Given the description of an element on the screen output the (x, y) to click on. 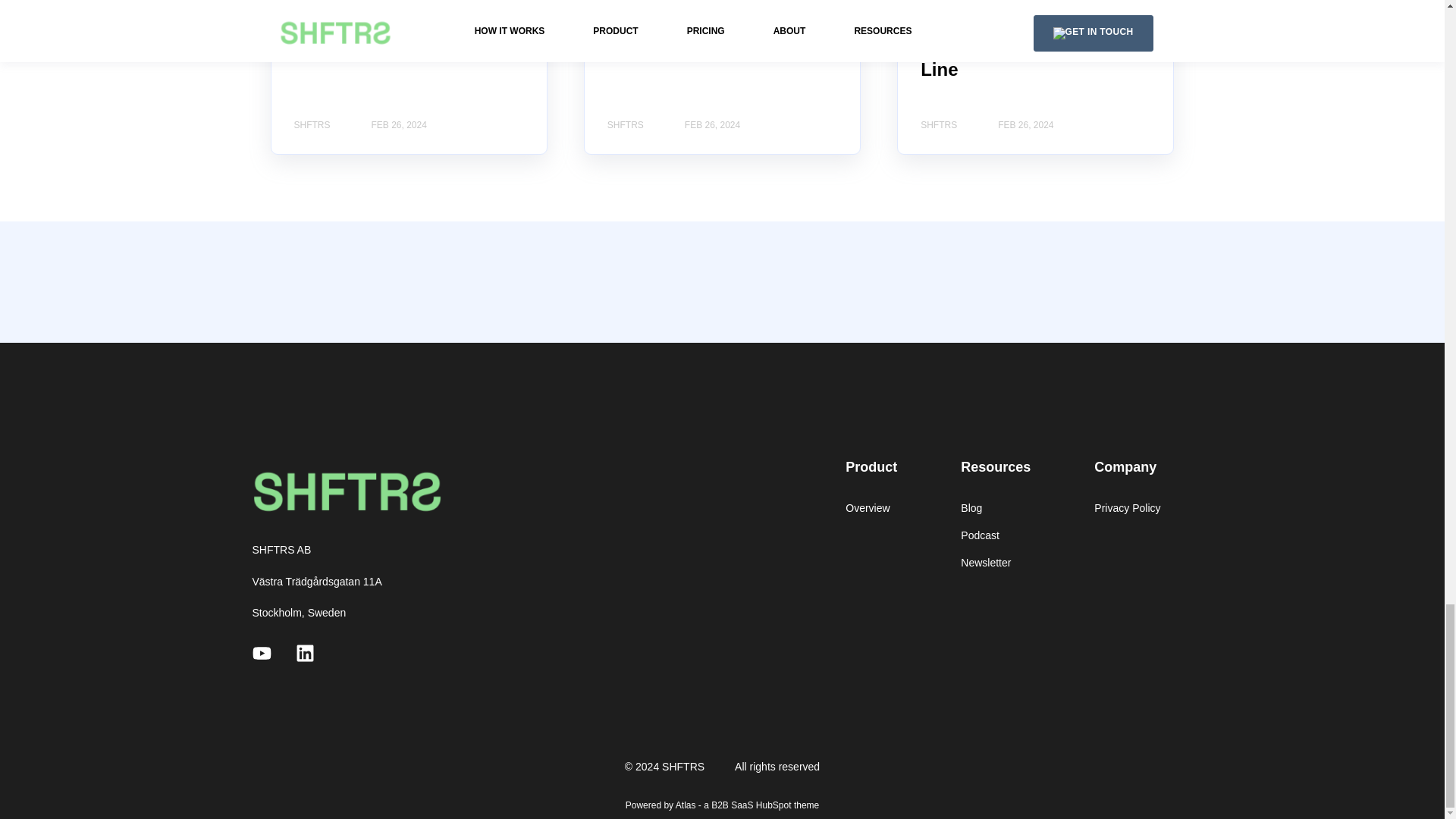
Overview (870, 508)
Powered by Atlas - a B2B SaaS HubSpot theme (722, 805)
Newsletter (995, 562)
Podcast (995, 535)
Privacy Policy (1127, 508)
Blog (995, 508)
